Given the description of an element on the screen output the (x, y) to click on. 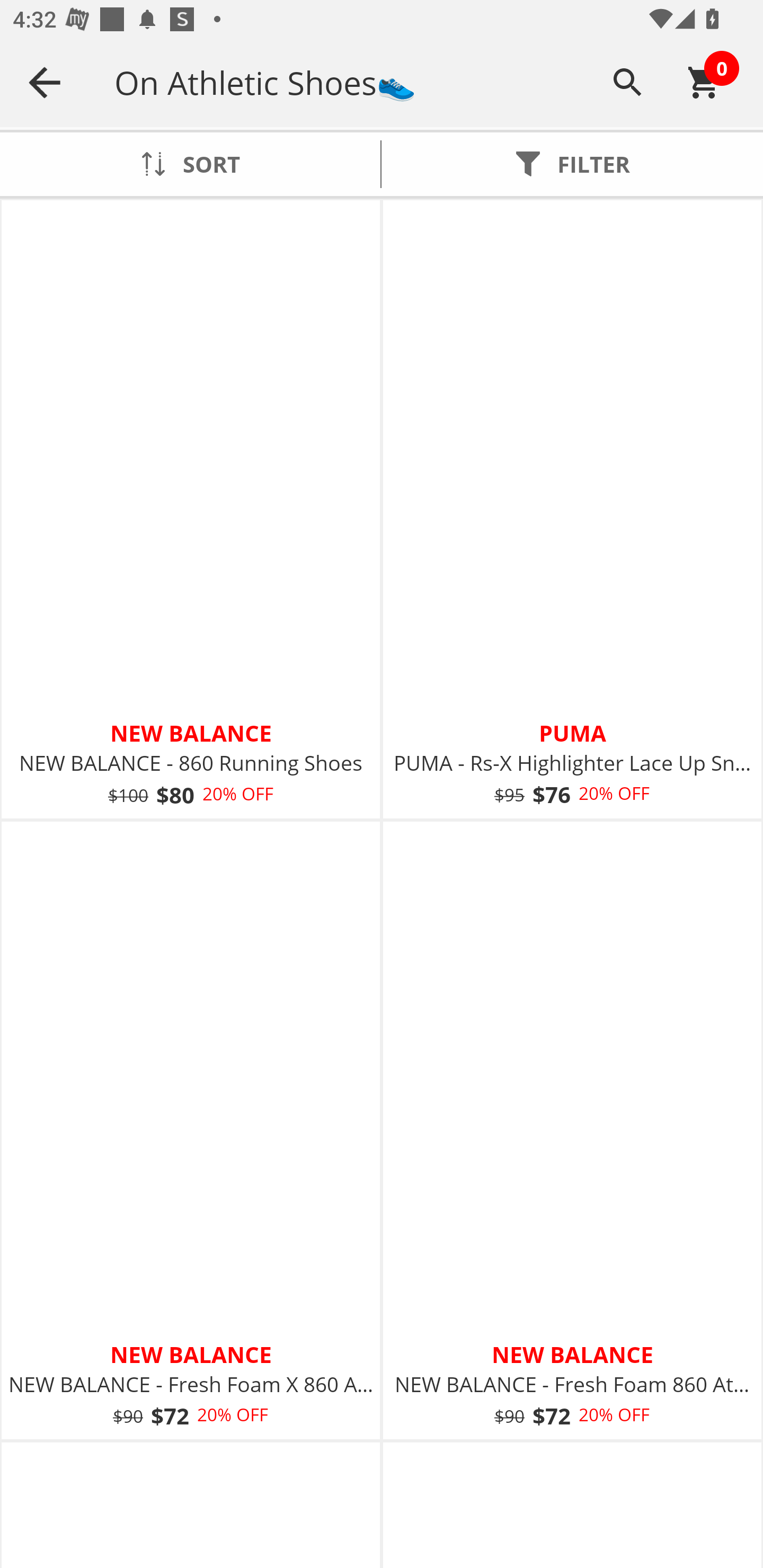
Navigate up (44, 82)
SORT (190, 163)
FILTER (572, 163)
